Given the description of an element on the screen output the (x, y) to click on. 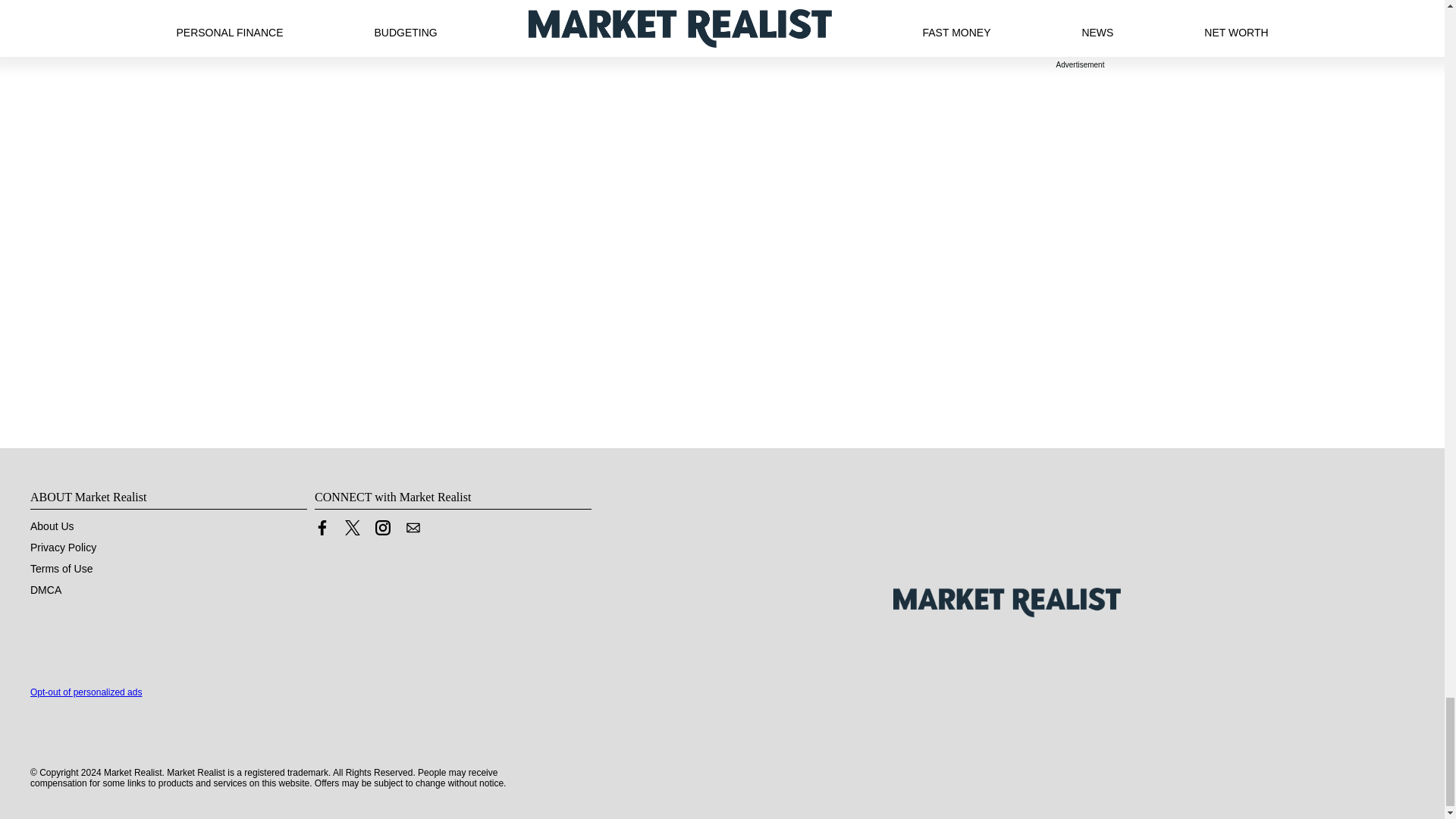
DMCA (45, 589)
Terms of Use (61, 568)
Privacy Policy (63, 547)
Contact us by Email (413, 531)
Opt-out of personalized ads (85, 692)
Link to Facebook (322, 527)
Privacy Policy (63, 547)
Link to Instagram (382, 527)
Link to X (352, 527)
Link to Instagram (382, 531)
